Given the description of an element on the screen output the (x, y) to click on. 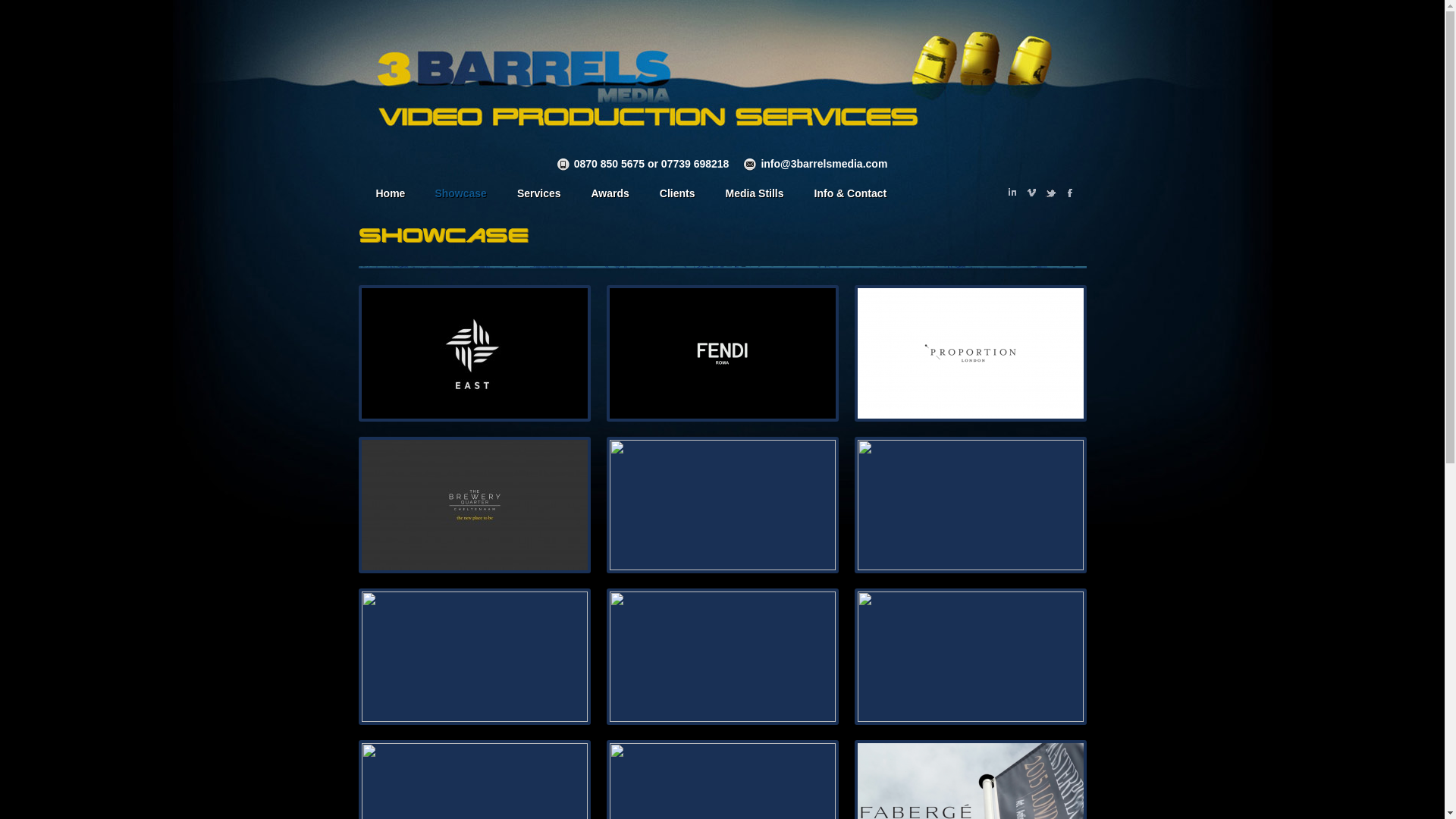
Showcase Element type: text (460, 196)
Clients Element type: text (677, 196)
ISES SPECIAL EVENTS Central Hall 2015 Element type: hover (722, 656)
Info & Contact Element type: text (850, 196)
Services Element type: text (538, 196)
Faberge At Harrods Element type: hover (473, 656)
Awards Element type: text (609, 196)
Fendi Flowerland At Selfridges 2016 Element type: hover (970, 504)
Fendi At Harrods  Element type: hover (722, 353)
Rolls Royce At Harrods Element type: hover (722, 504)
East Autumn Winter Collection 2017 Element type: hover (473, 353)
Harrods Christmas Windows 2015 Element type: hover (970, 656)
Media Stills Element type: text (754, 196)
Martin Commercial Properties Element type: hover (473, 504)
Proportion London Element type: hover (970, 353)
Home Element type: text (388, 196)
